Given the description of an element on the screen output the (x, y) to click on. 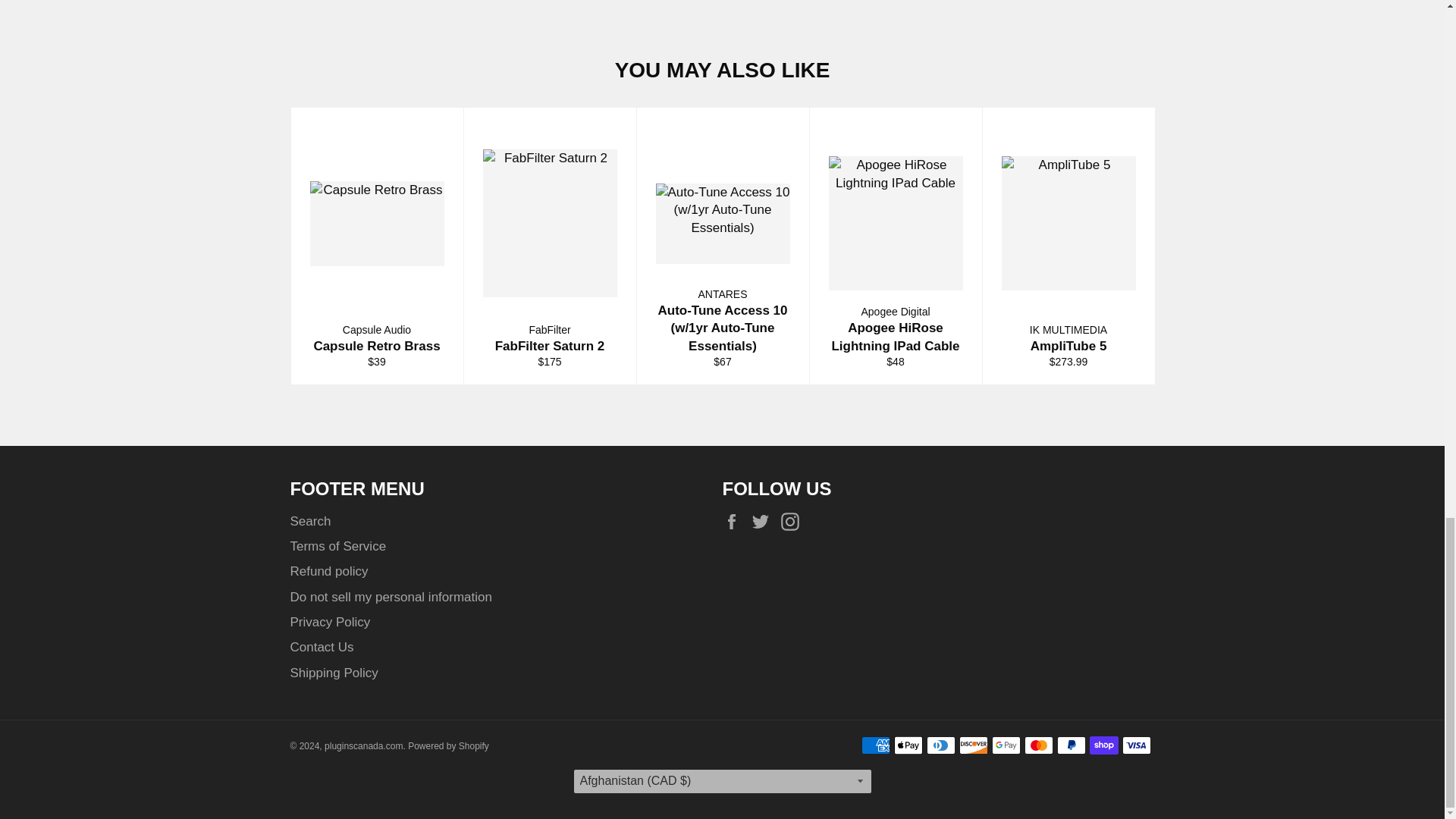
pluginscanada.com on Facebook (735, 521)
pluginscanada.com on Twitter (764, 521)
pluginscanada.com on Instagram (793, 521)
